Given the description of an element on the screen output the (x, y) to click on. 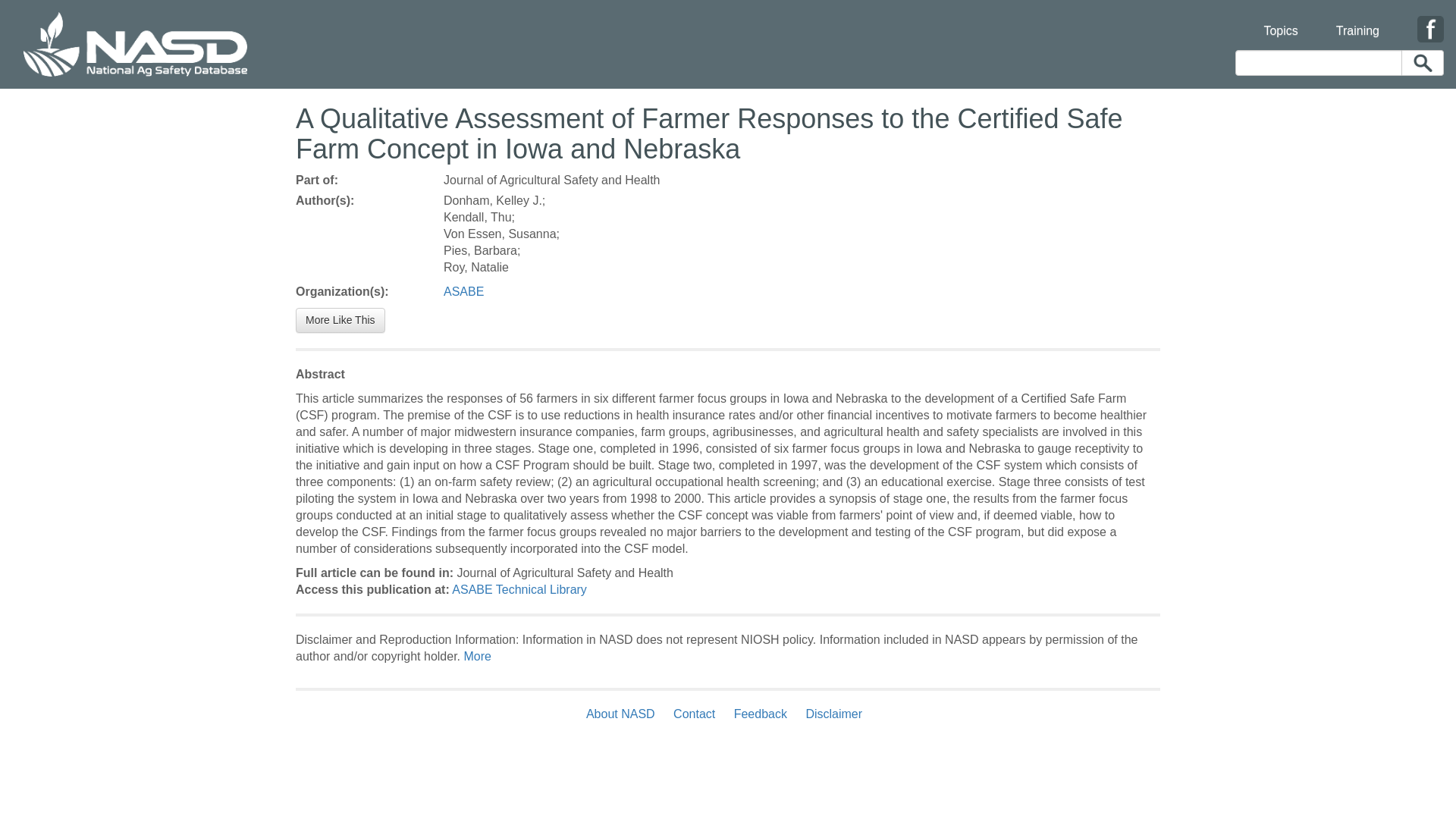
ASABE (463, 291)
Disclaimer (833, 714)
Training (1357, 21)
ASABE Technical Library (518, 589)
Topics (1280, 21)
About NASD (624, 714)
More Like This (340, 320)
Feedback (760, 714)
Contact (693, 714)
More (476, 656)
